Given the description of an element on the screen output the (x, y) to click on. 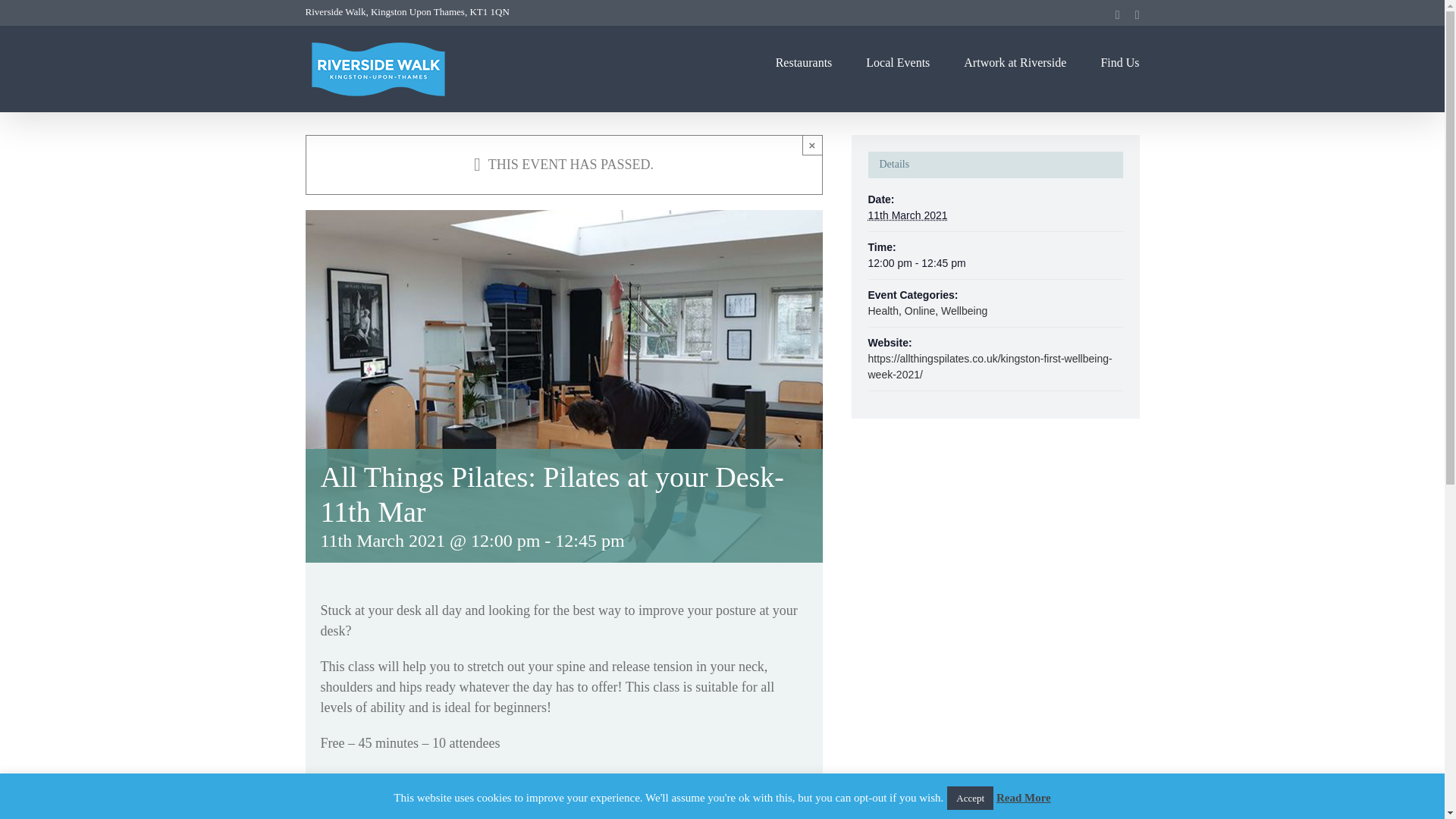
here (440, 779)
Restaurants (804, 62)
2021-03-11 (907, 215)
Local Events (898, 62)
Artwork at Riverside (1014, 62)
2021-03-11 (994, 263)
